Given the description of an element on the screen output the (x, y) to click on. 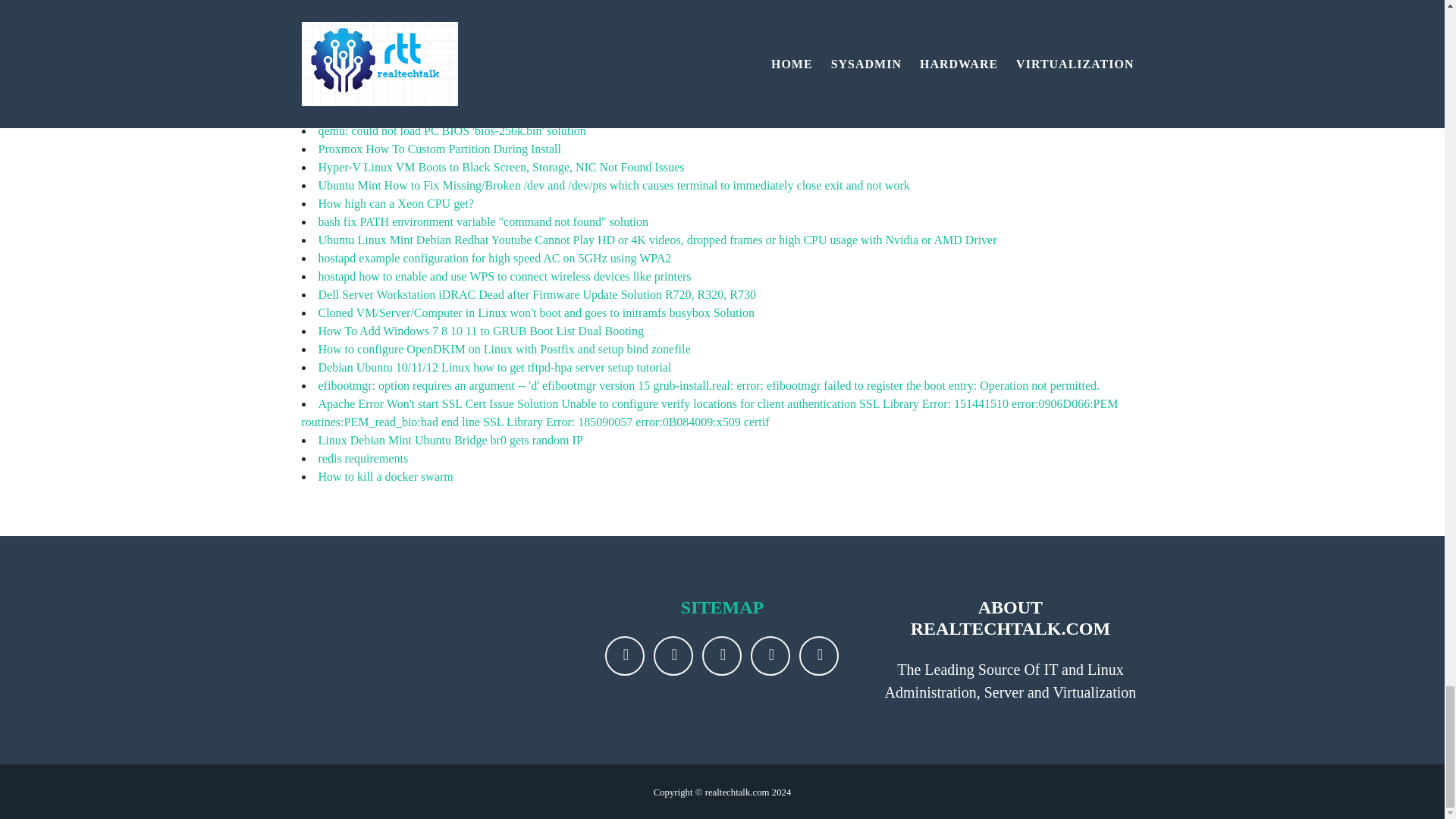
qemu: could not load PC BIOS 'bios-256k.bin' solution (452, 130)
Latest Articles (354, 84)
Proxmox How To Custom Partition During Install (439, 148)
